Given the description of an element on the screen output the (x, y) to click on. 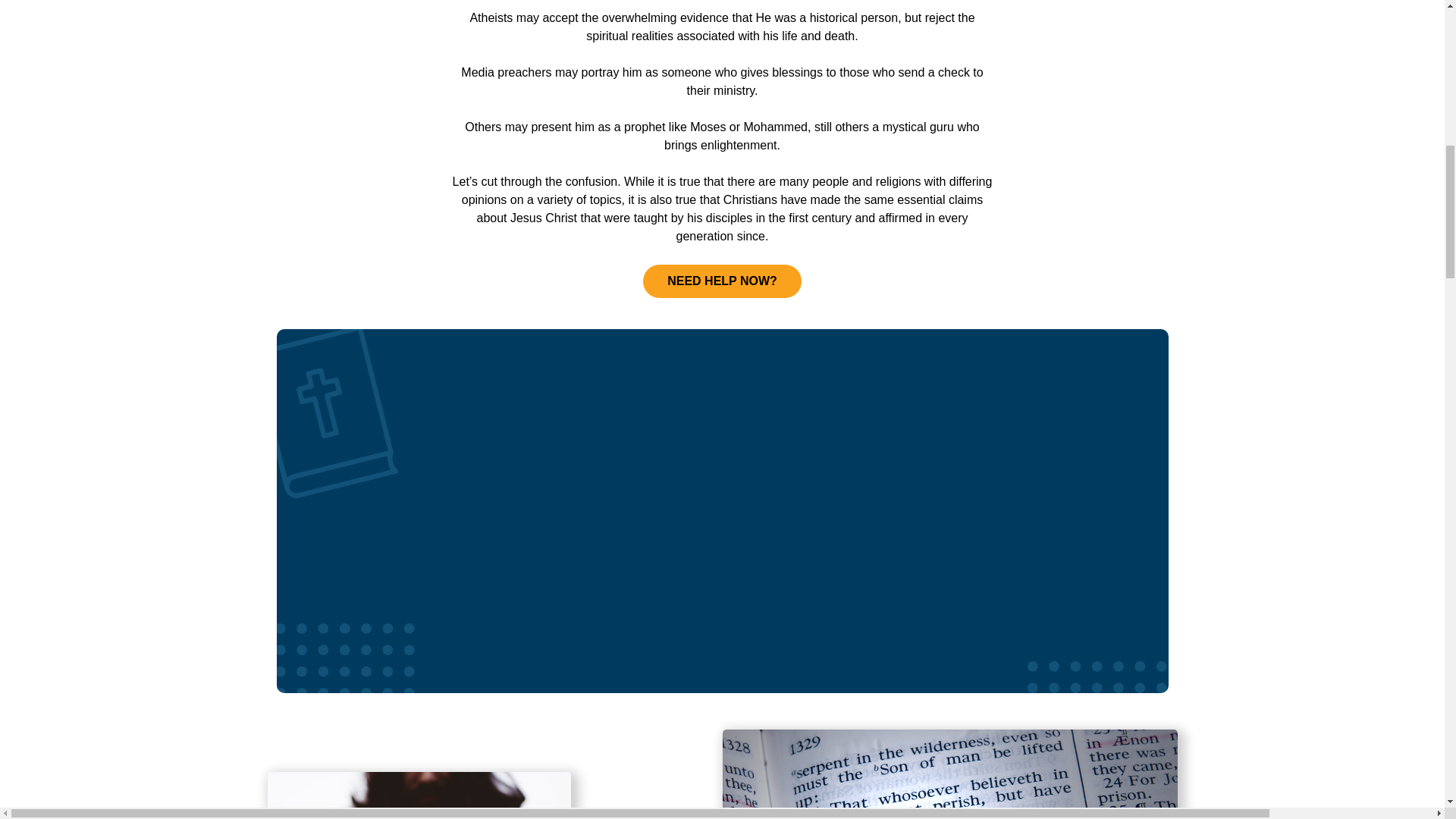
NEED HELP NOW? (722, 280)
